Given the description of an element on the screen output the (x, y) to click on. 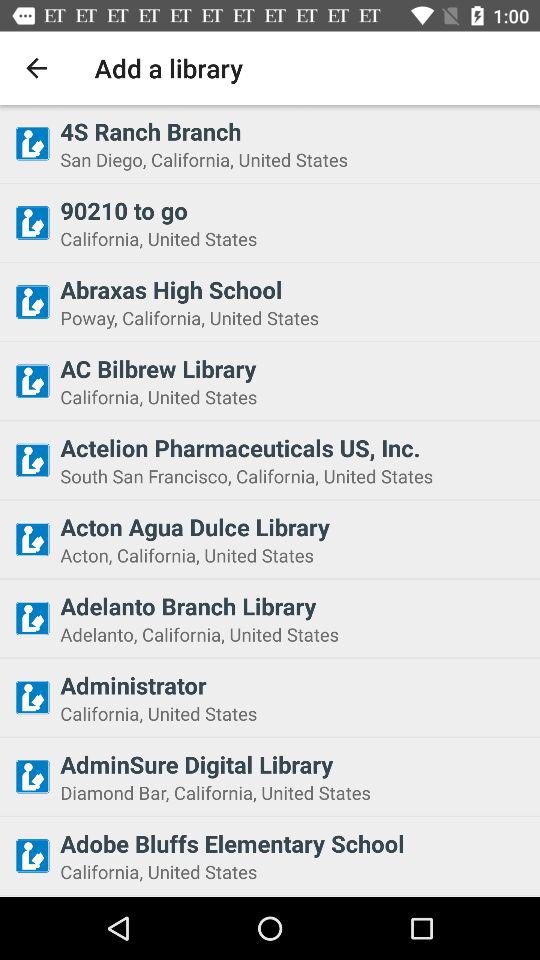
open south san francisco icon (294, 475)
